Given the description of an element on the screen output the (x, y) to click on. 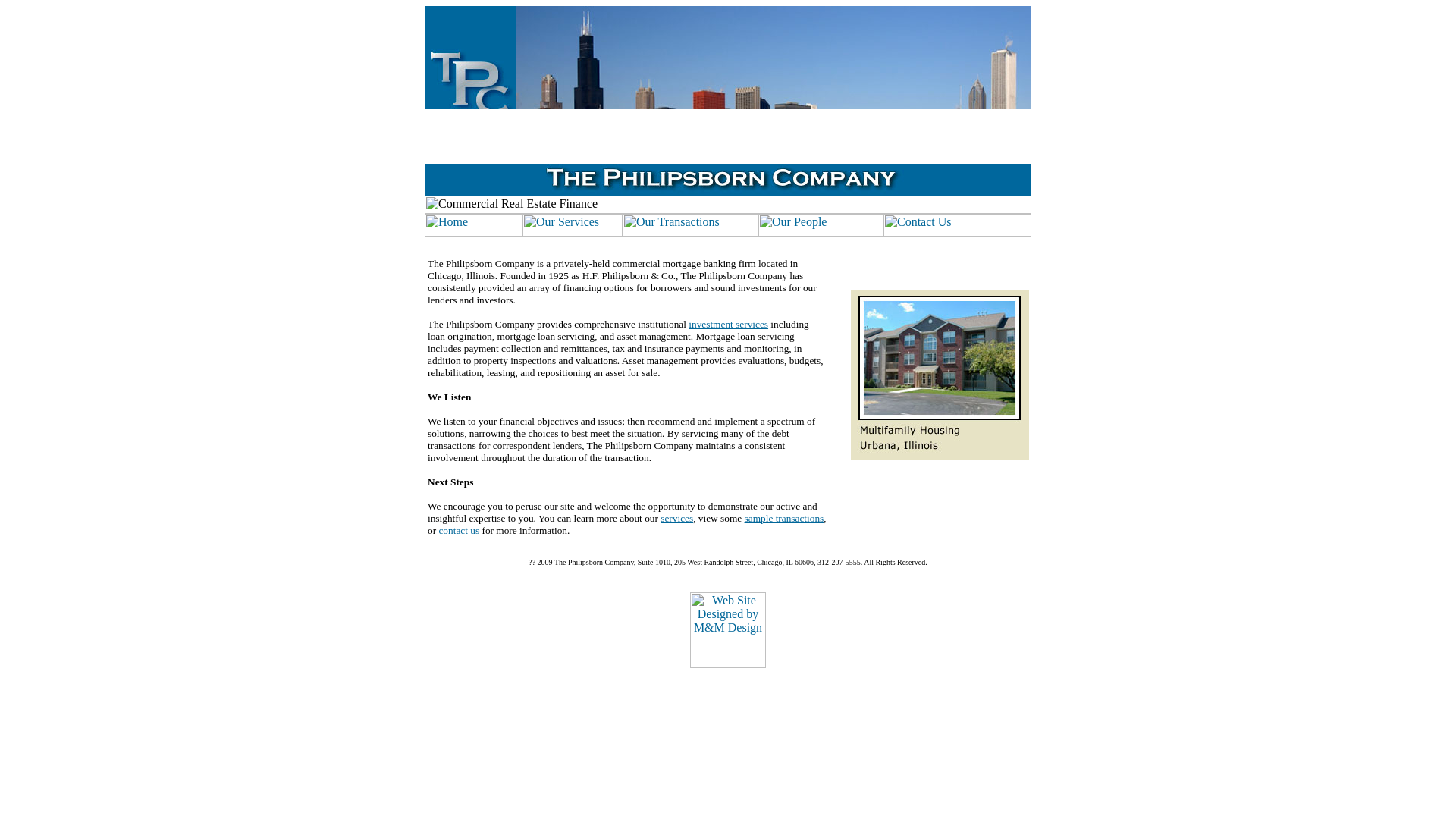
contact us (458, 530)
services (677, 518)
investment services (728, 324)
sample transactions (784, 518)
